Given the description of an element on the screen output the (x, y) to click on. 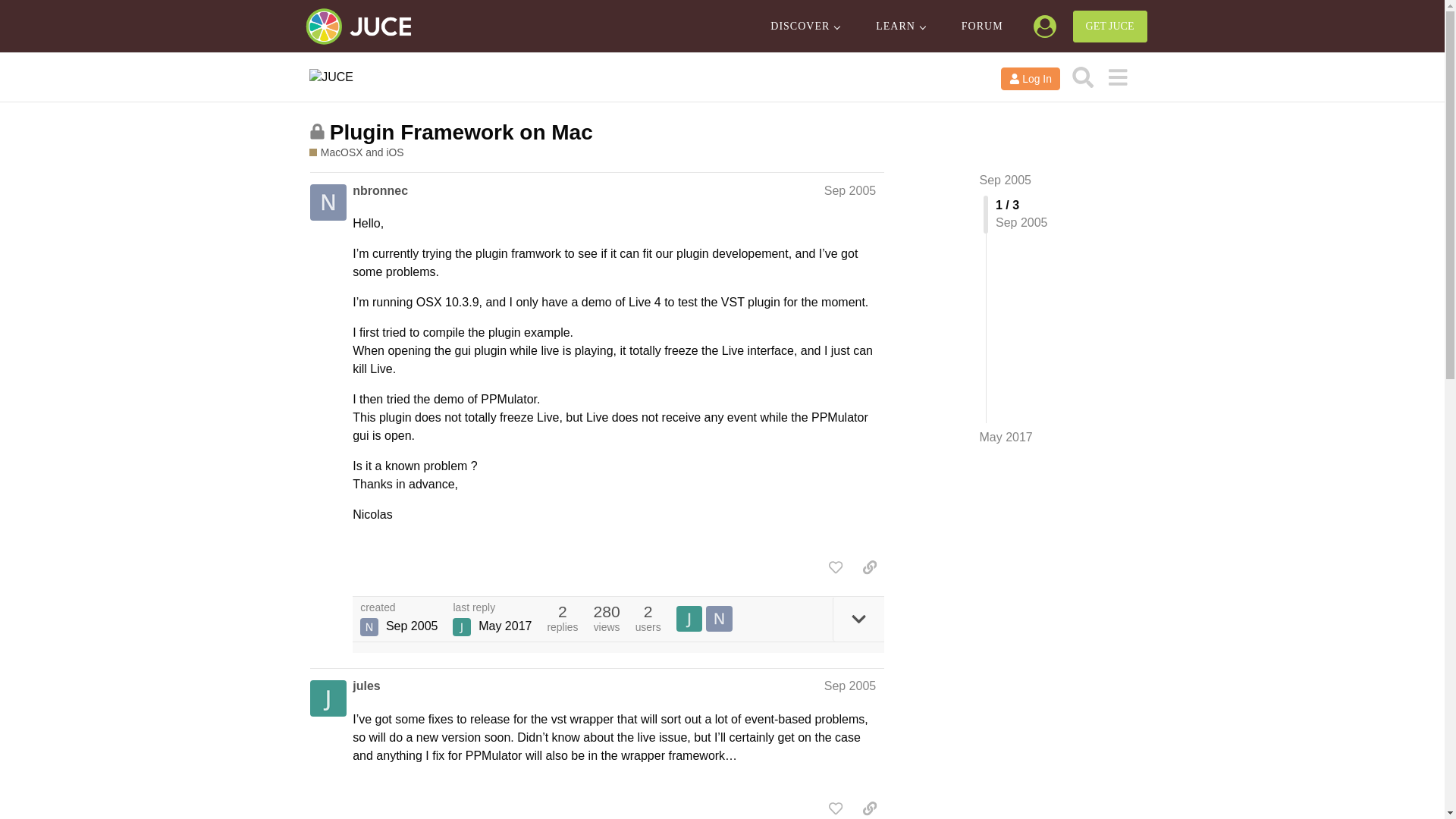
expand topic details (857, 619)
jules (366, 686)
Search (1082, 76)
GET JUCE (1110, 26)
copy a link to this post to clipboard (869, 566)
Jump to the last post (1005, 436)
MacOSX and iOS (355, 152)
Plugin Framework on Mac (461, 132)
May 12, 2017 5:53 pm (505, 625)
LEARN (900, 26)
May 2017 (1005, 437)
FORUM (982, 26)
menu (1117, 76)
This topic is closed; it no longer accepts new replies (316, 131)
DISCOVER (804, 26)
